Given the description of an element on the screen output the (x, y) to click on. 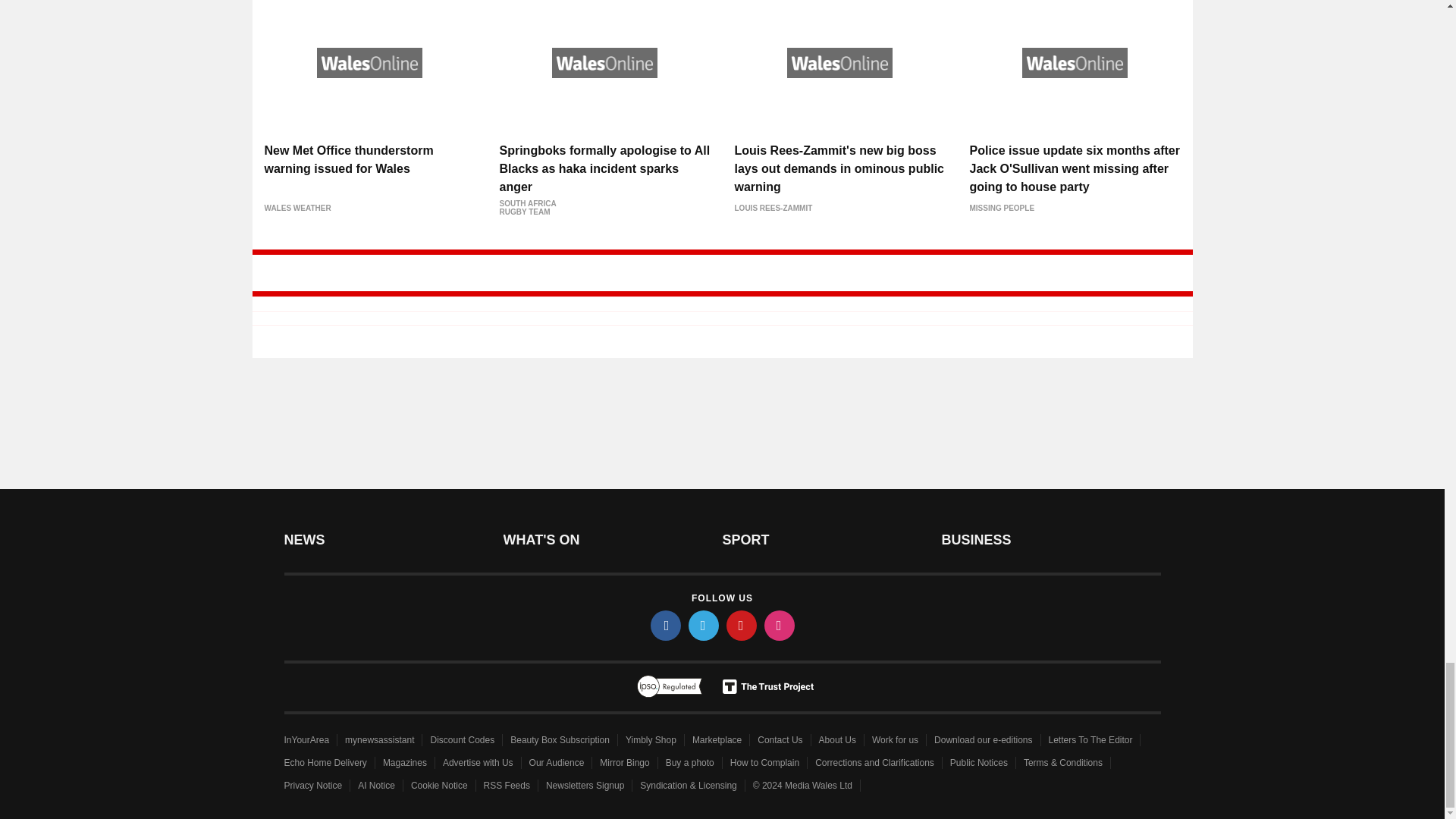
pinterest (741, 625)
facebook (665, 625)
instagram (779, 625)
twitter (703, 625)
